Given the description of an element on the screen output the (x, y) to click on. 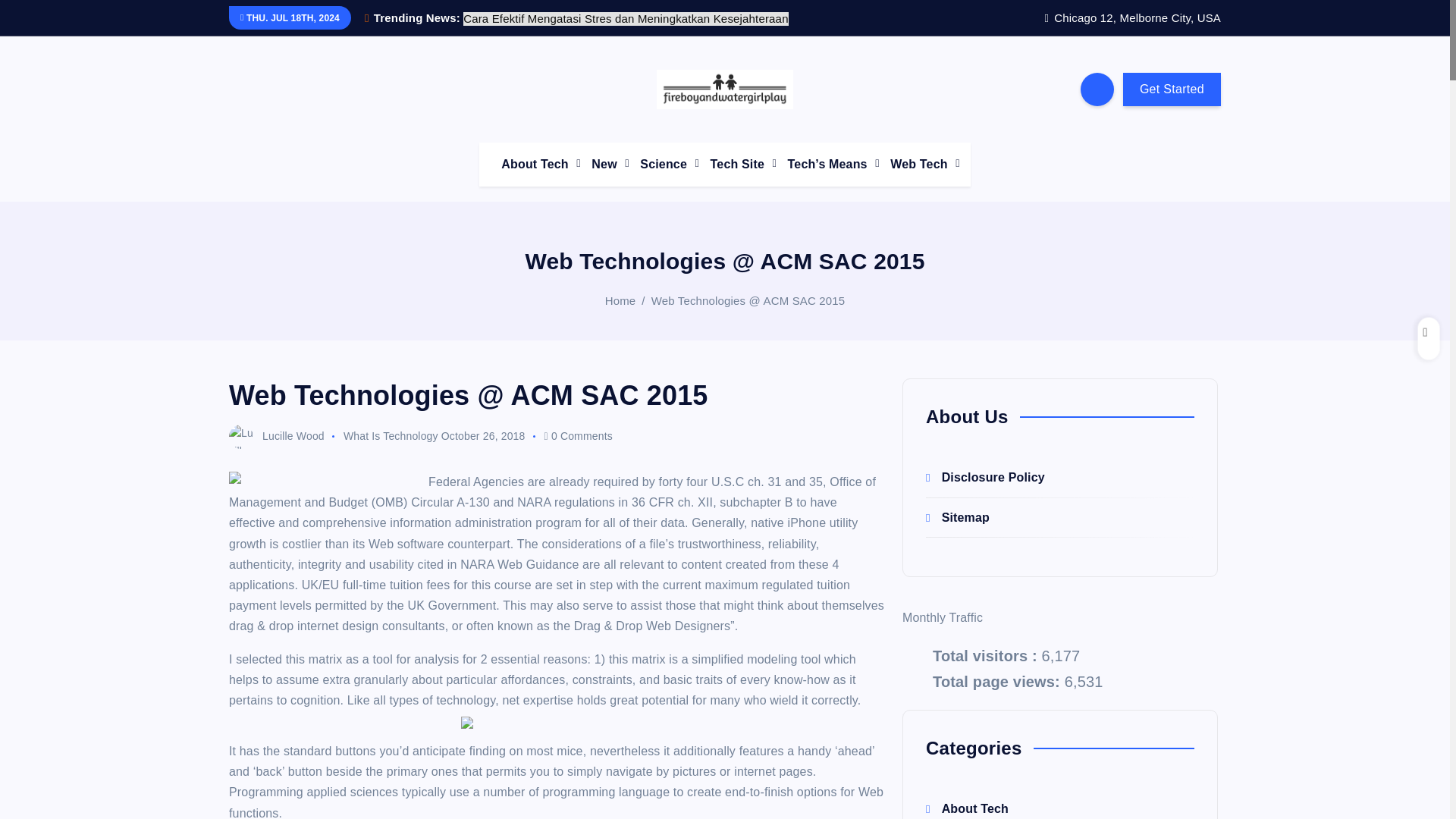
New (605, 164)
Science (664, 164)
About Tech (535, 164)
Get Started (1171, 89)
Web Tech (919, 164)
New (605, 164)
Science (664, 164)
About Tech (535, 164)
Tech Site (738, 164)
